Given the description of an element on the screen output the (x, y) to click on. 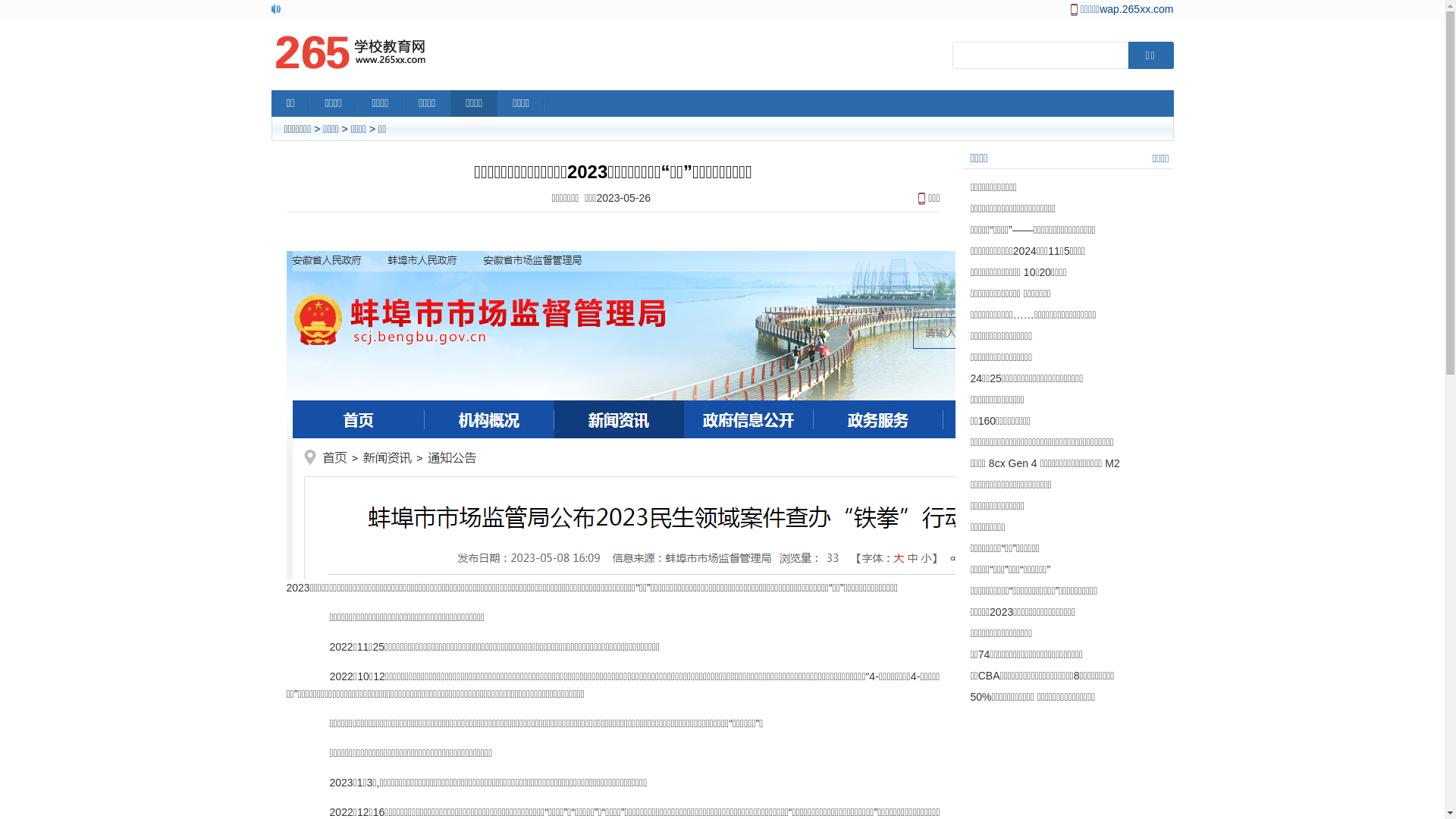
wap.265xx.com Element type: text (1136, 9)
